Given the description of an element on the screen output the (x, y) to click on. 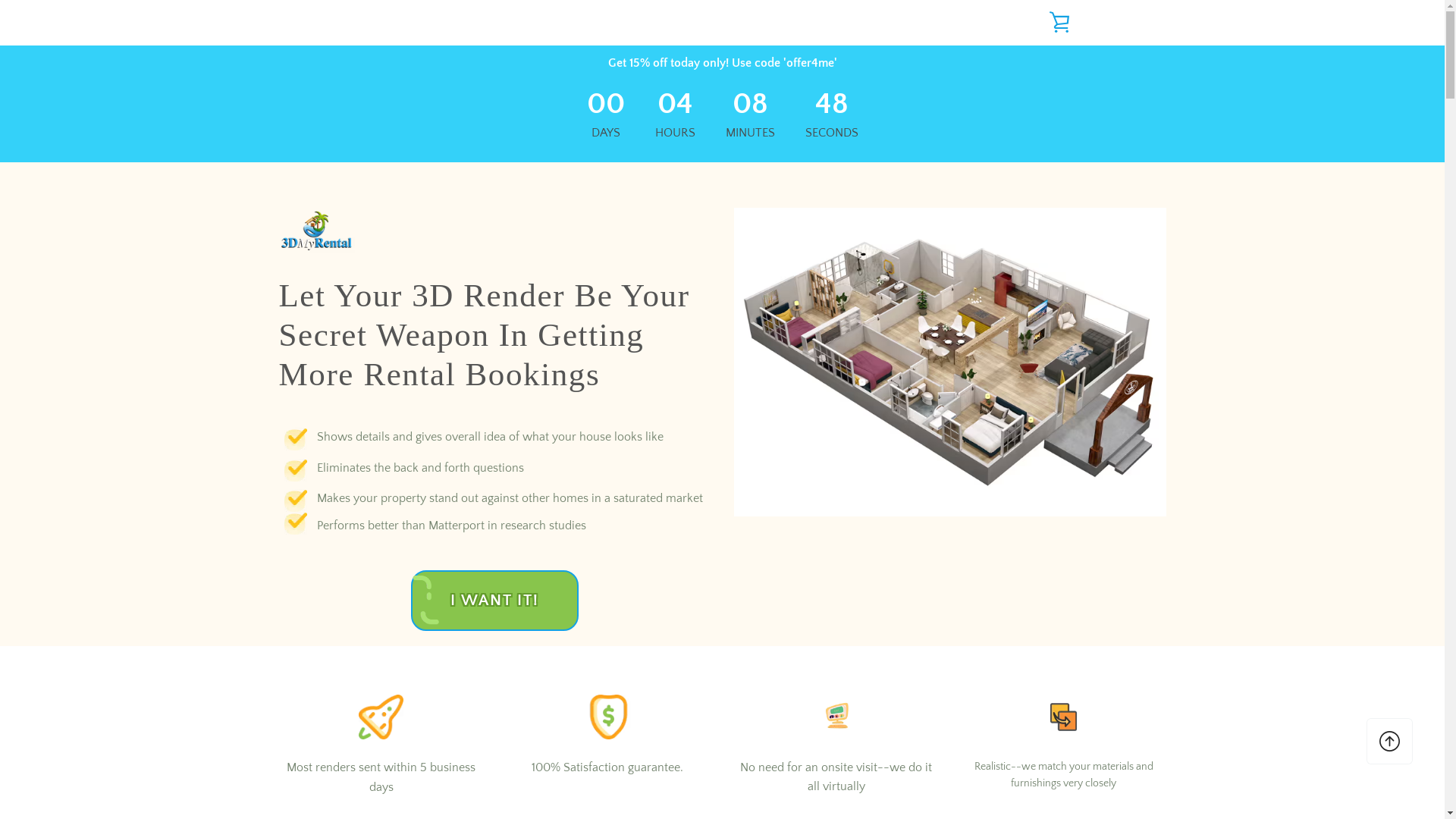
I WANT IT! Element type: text (494, 600)
VIEW CART Element type: text (1059, 22)
